Given the description of an element on the screen output the (x, y) to click on. 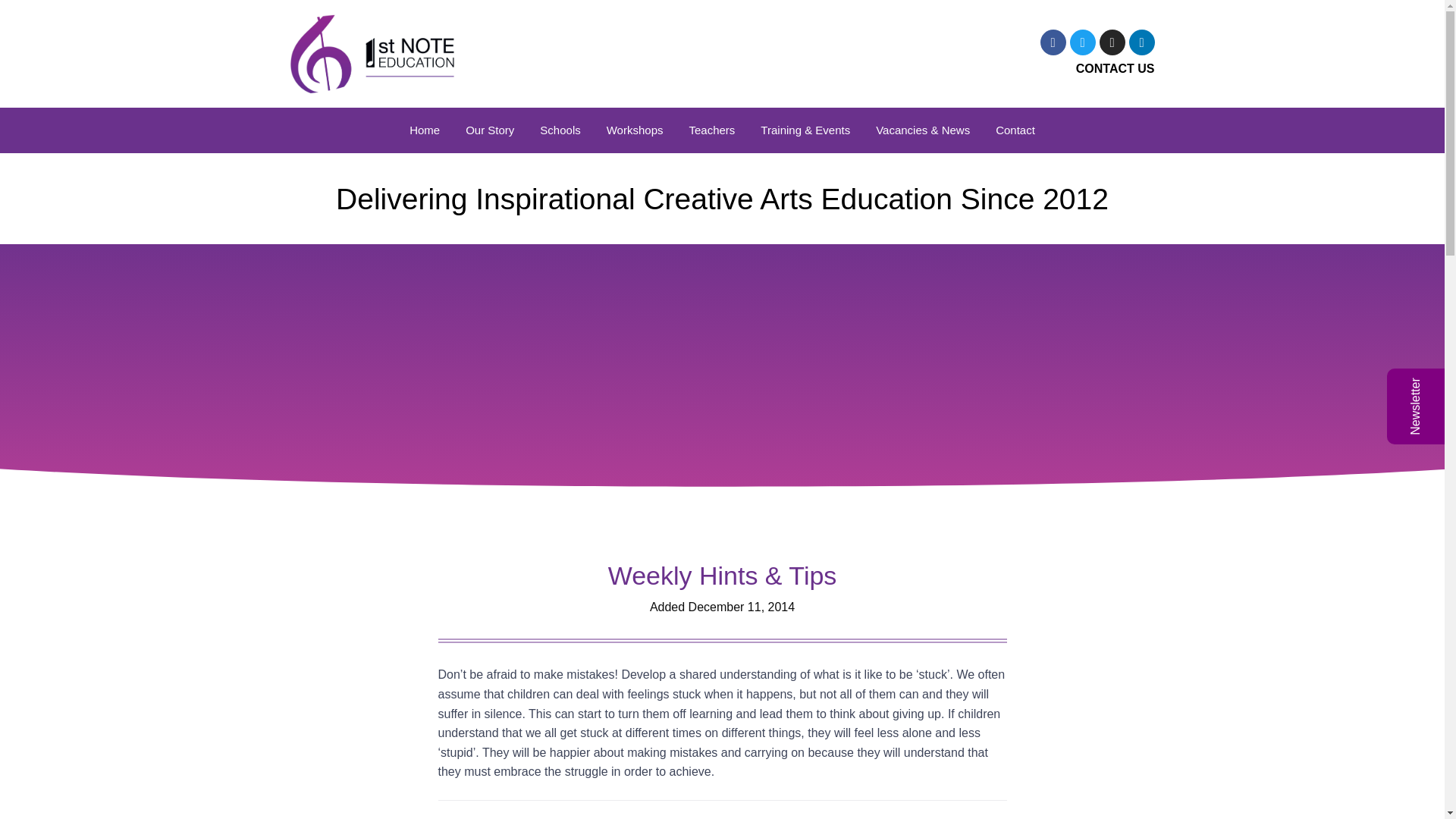
Schools (559, 130)
Added December 11, 2014 (721, 607)
Teachers (711, 130)
CONTACT US (938, 68)
Workshops (635, 130)
Contact (1015, 130)
Our Story (489, 130)
Home (424, 130)
